Given the description of an element on the screen output the (x, y) to click on. 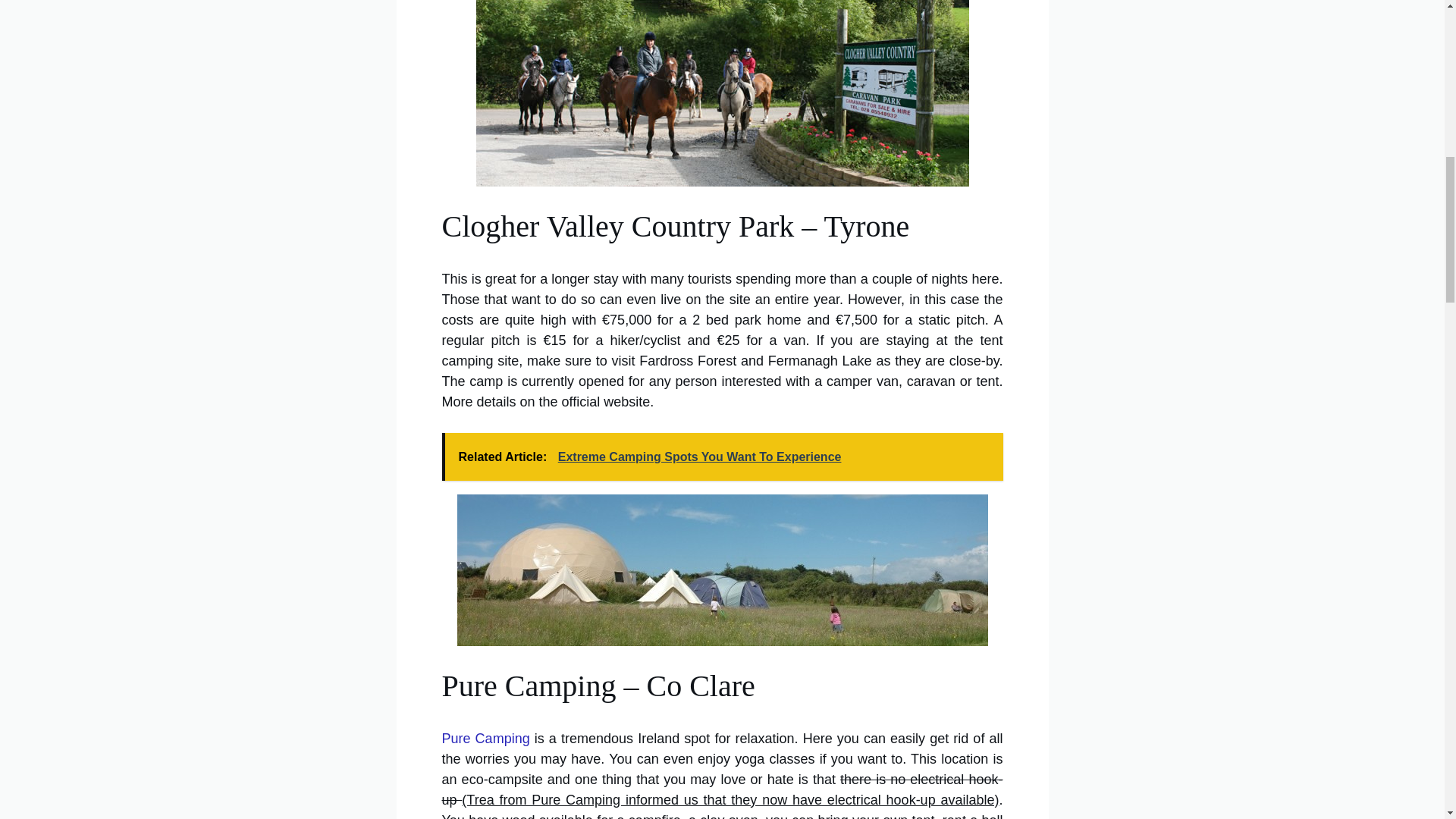
Pure Camping (485, 738)
